Given the description of an element on the screen output the (x, y) to click on. 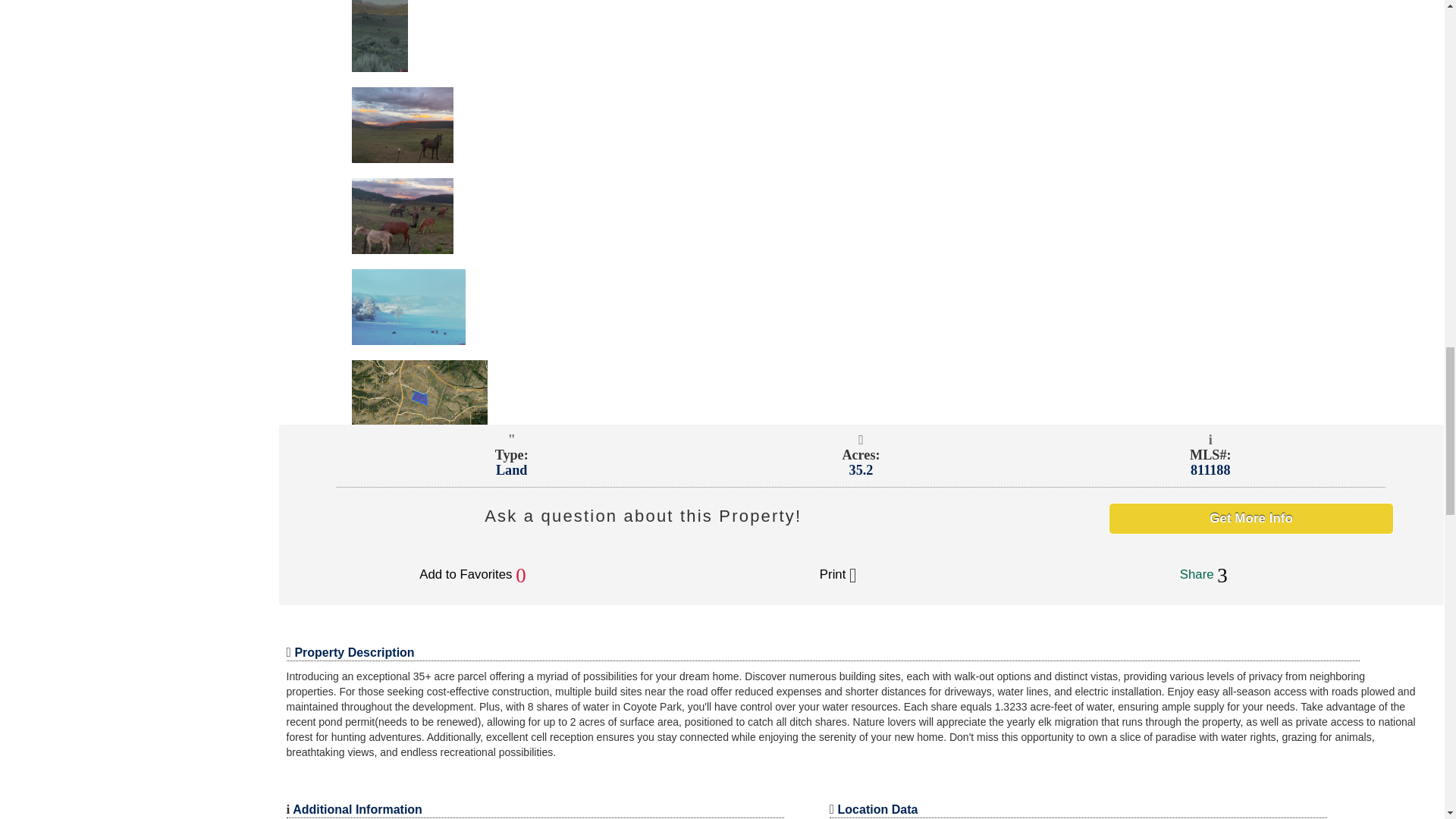
Print Listing (838, 574)
